Given the description of an element on the screen output the (x, y) to click on. 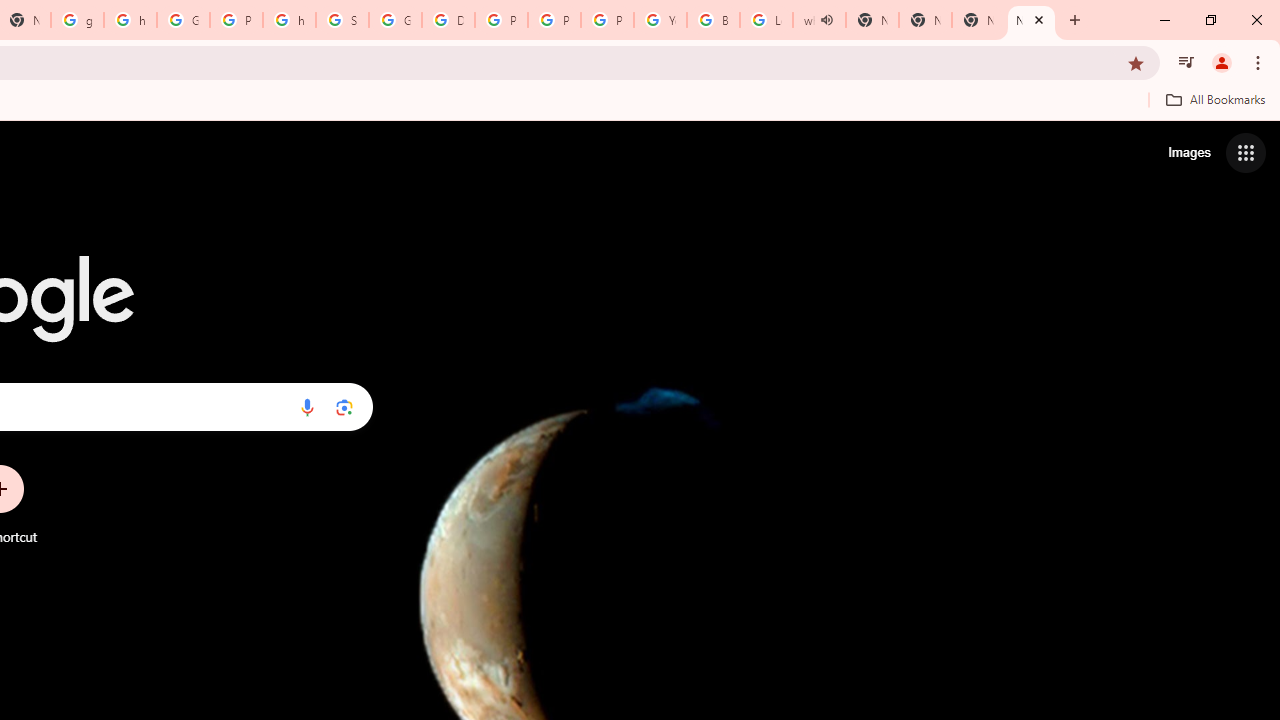
Privacy Help Center - Policies Help (554, 20)
New Tab (978, 20)
https://scholar.google.com/ (289, 20)
Privacy Help Center - Policies Help (501, 20)
